Given the description of an element on the screen output the (x, y) to click on. 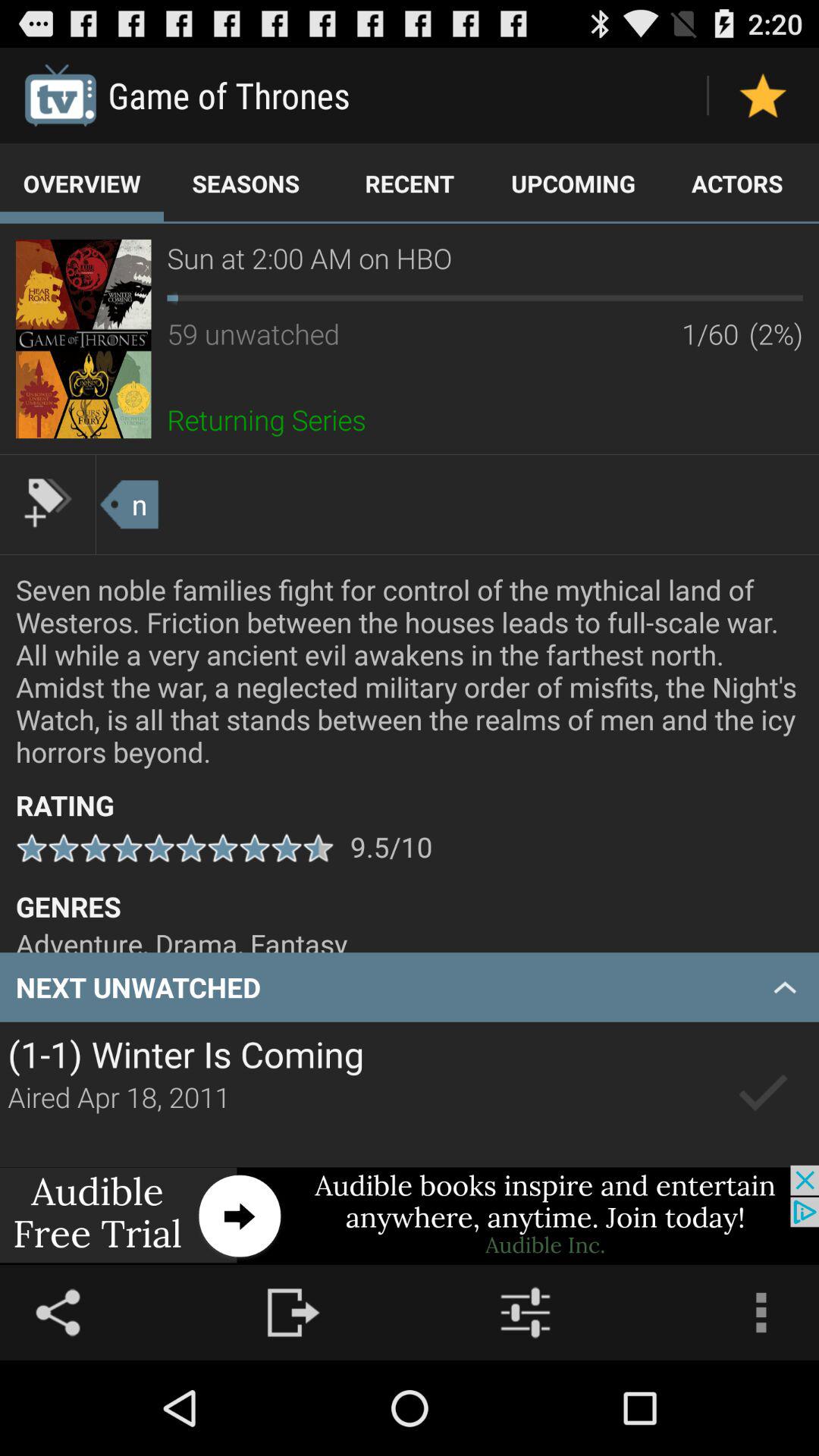
advertisement (83, 338)
